Given the description of an element on the screen output the (x, y) to click on. 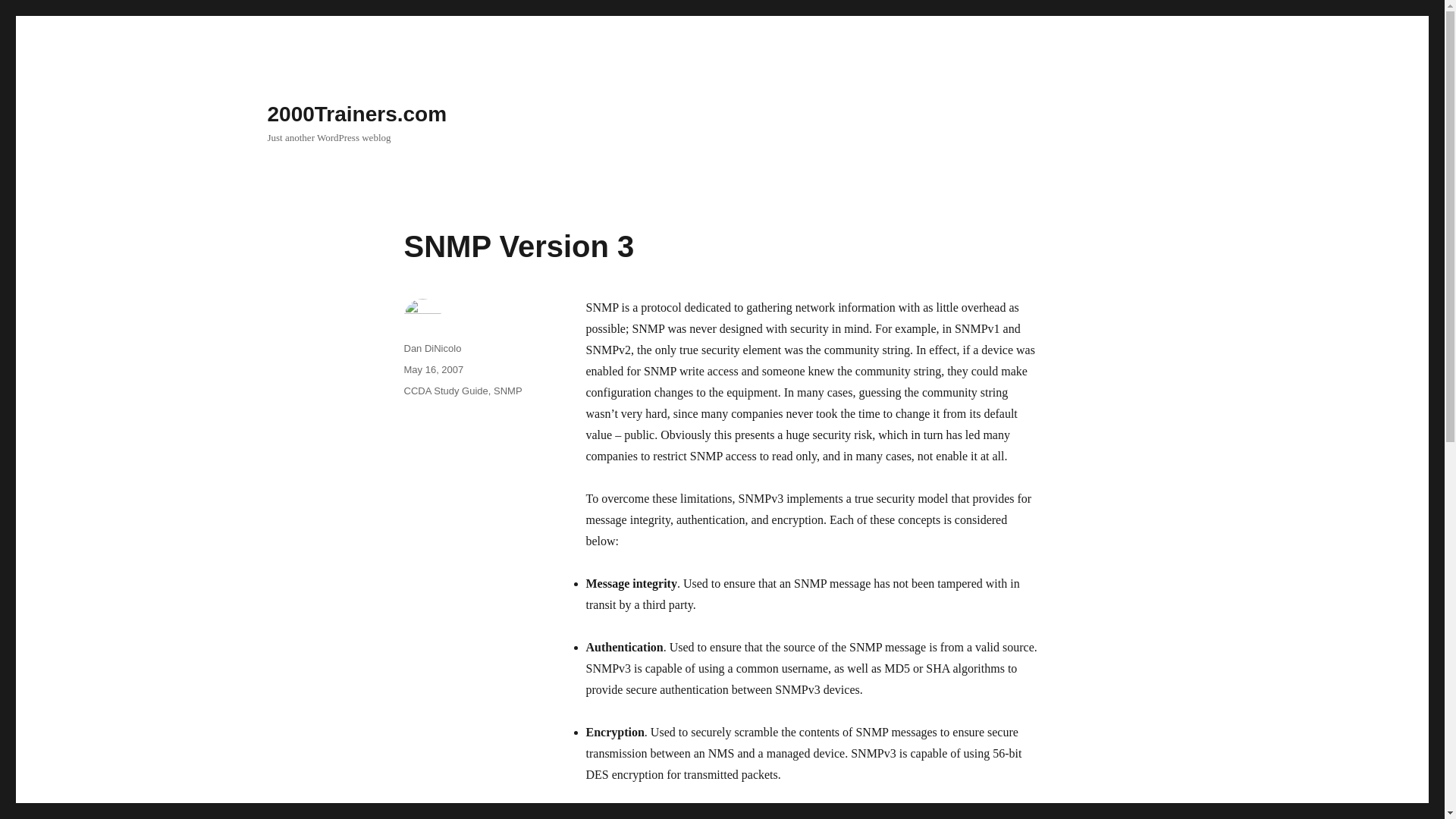
CCDA Study Guide (445, 390)
Dan DiNicolo (432, 348)
2000Trainers.com (356, 114)
May 16, 2007 (433, 369)
SNMP (507, 390)
